Given the description of an element on the screen output the (x, y) to click on. 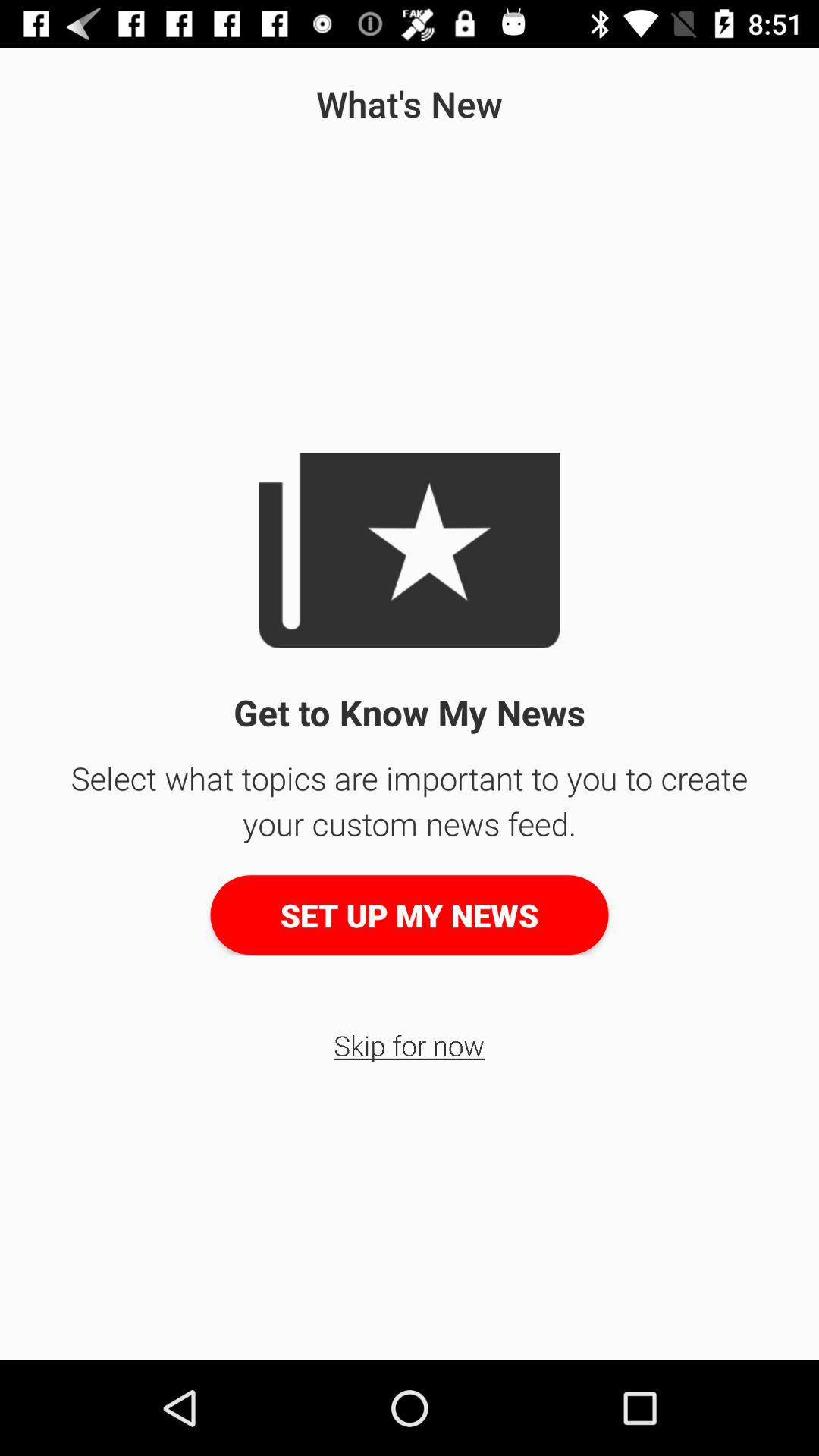
click set up my (409, 914)
